Given the description of an element on the screen output the (x, y) to click on. 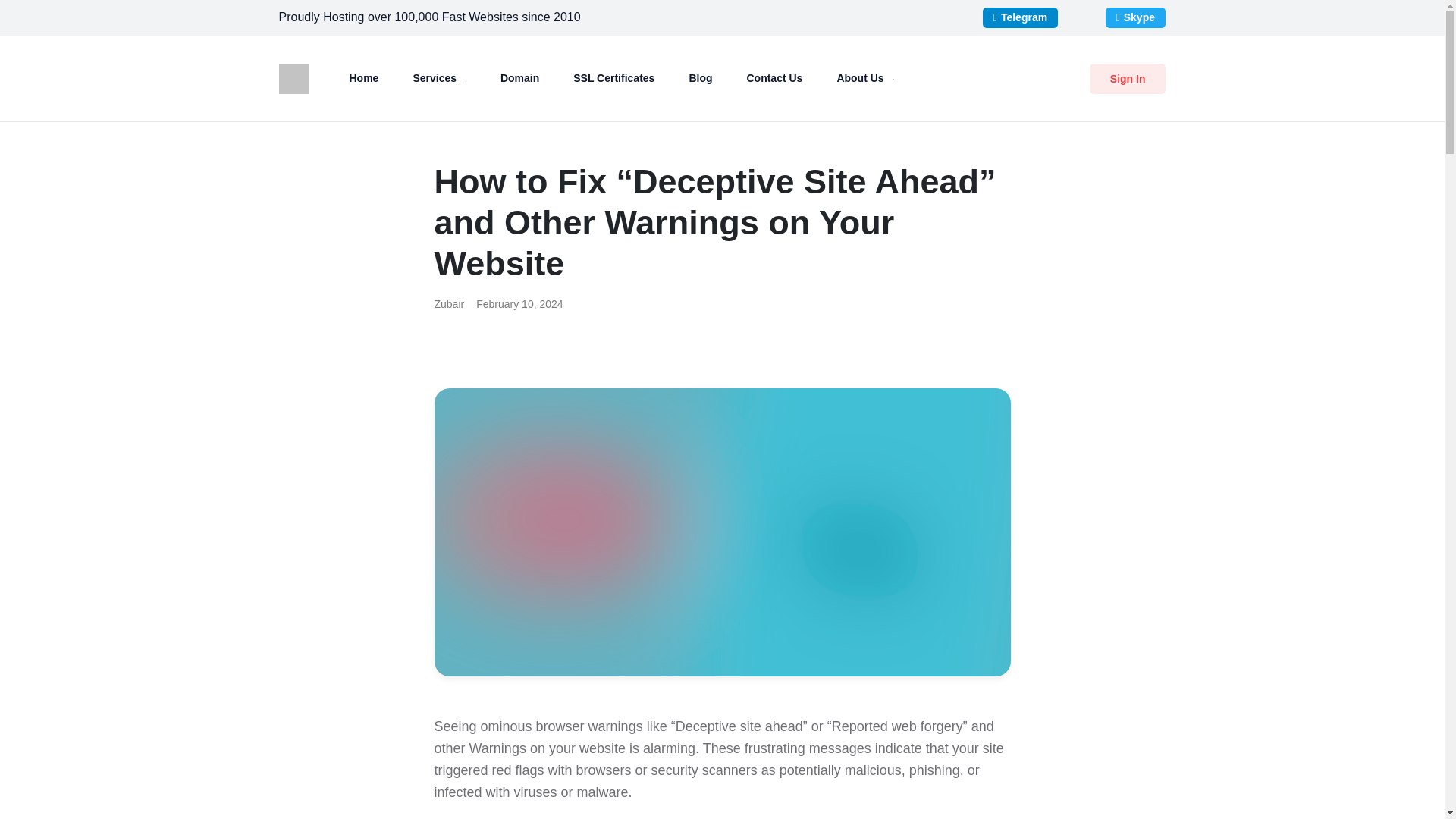
Skype (1135, 17)
About Us (864, 78)
Contact Us (773, 78)
SSL Certificates (614, 78)
Domain (519, 78)
Sign In (1127, 78)
Services (438, 78)
Telegram (1020, 17)
Home (363, 78)
